Given the description of an element on the screen output the (x, y) to click on. 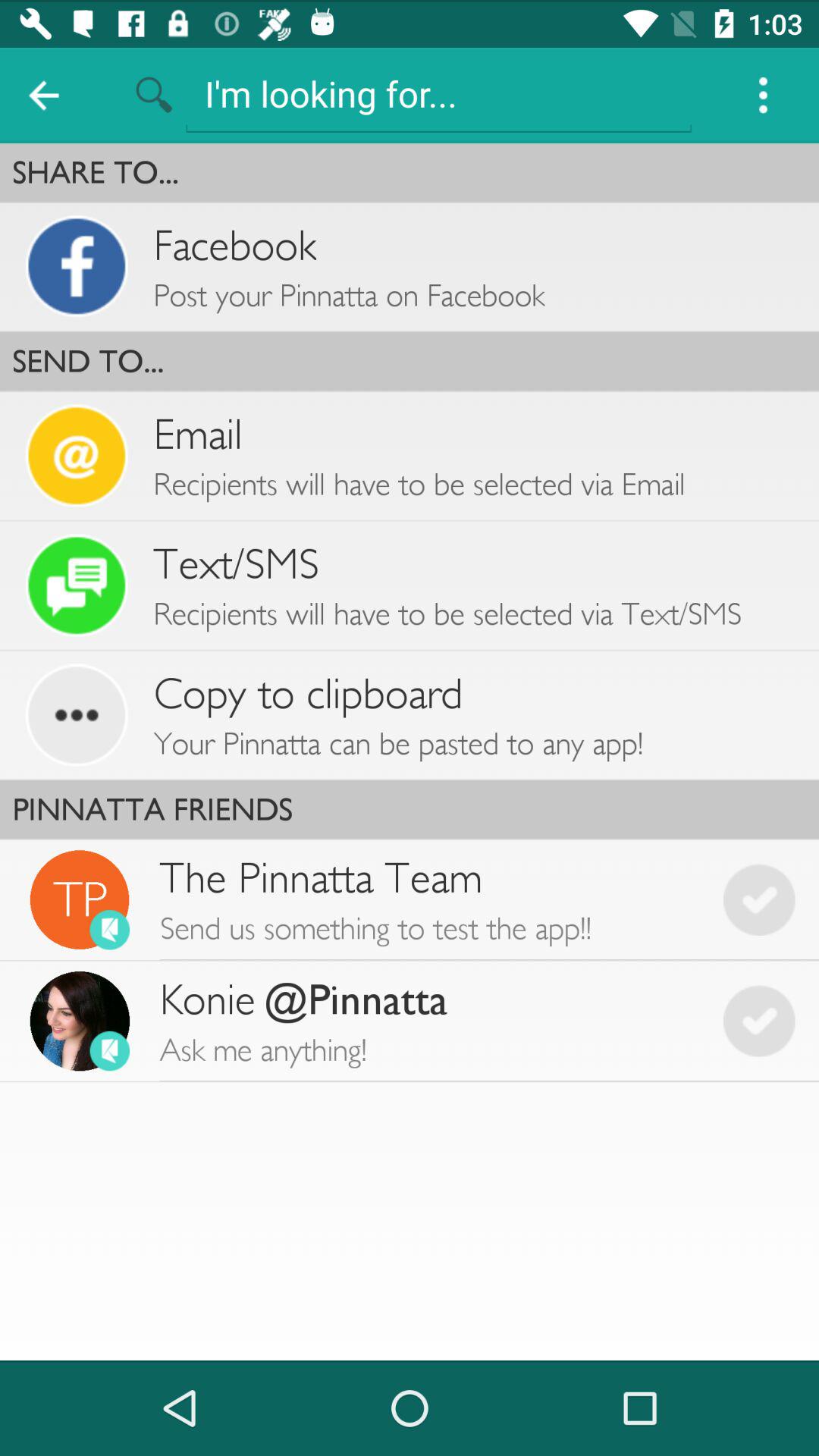
tap the icon above the pinnatta team (409, 809)
